Given the description of an element on the screen output the (x, y) to click on. 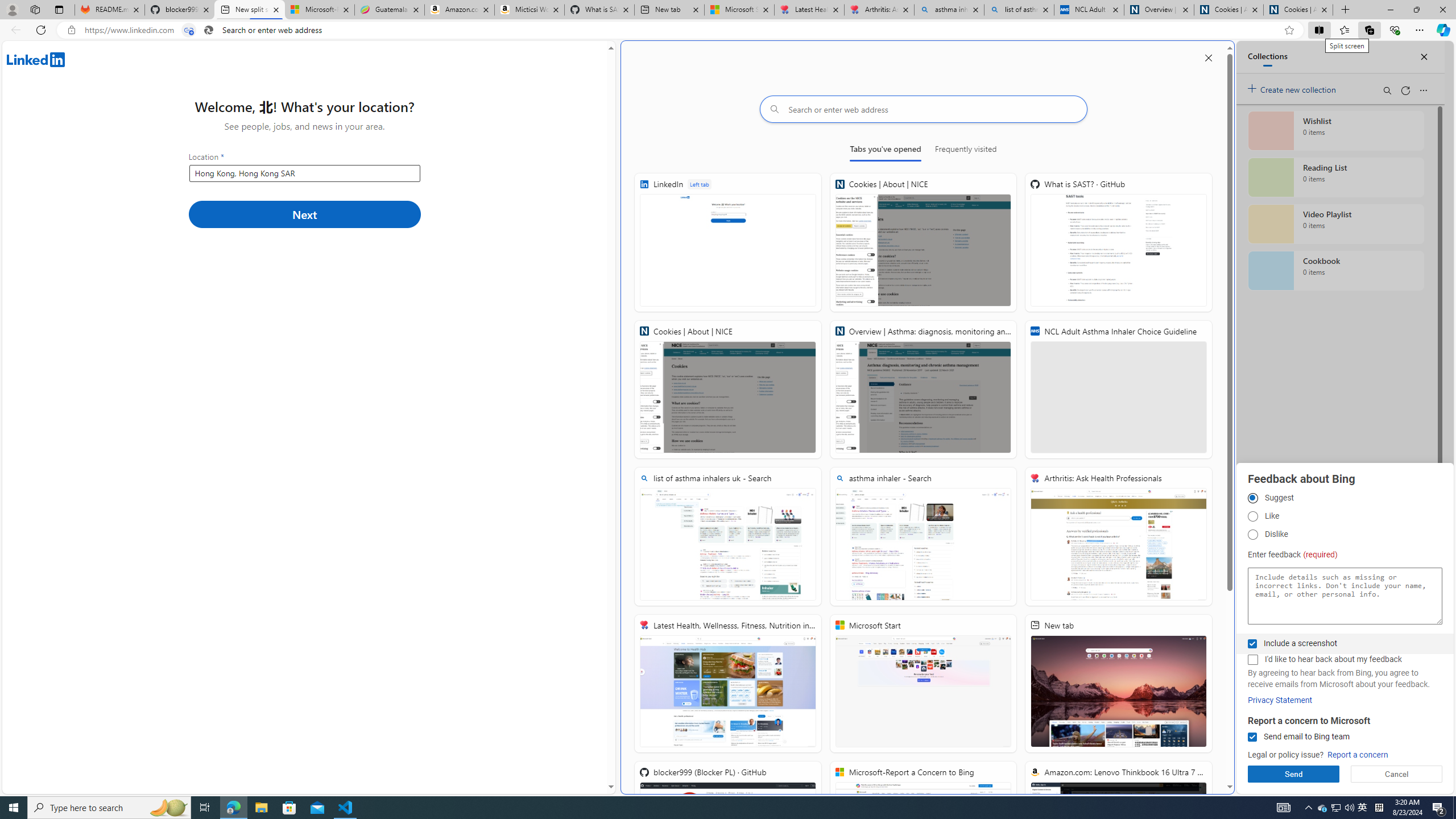
Tabs in split screen (189, 29)
I'd like to hear back about my feedback (1252, 659)
Cookies | About | NICE (1297, 9)
